Given the description of an element on the screen output the (x, y) to click on. 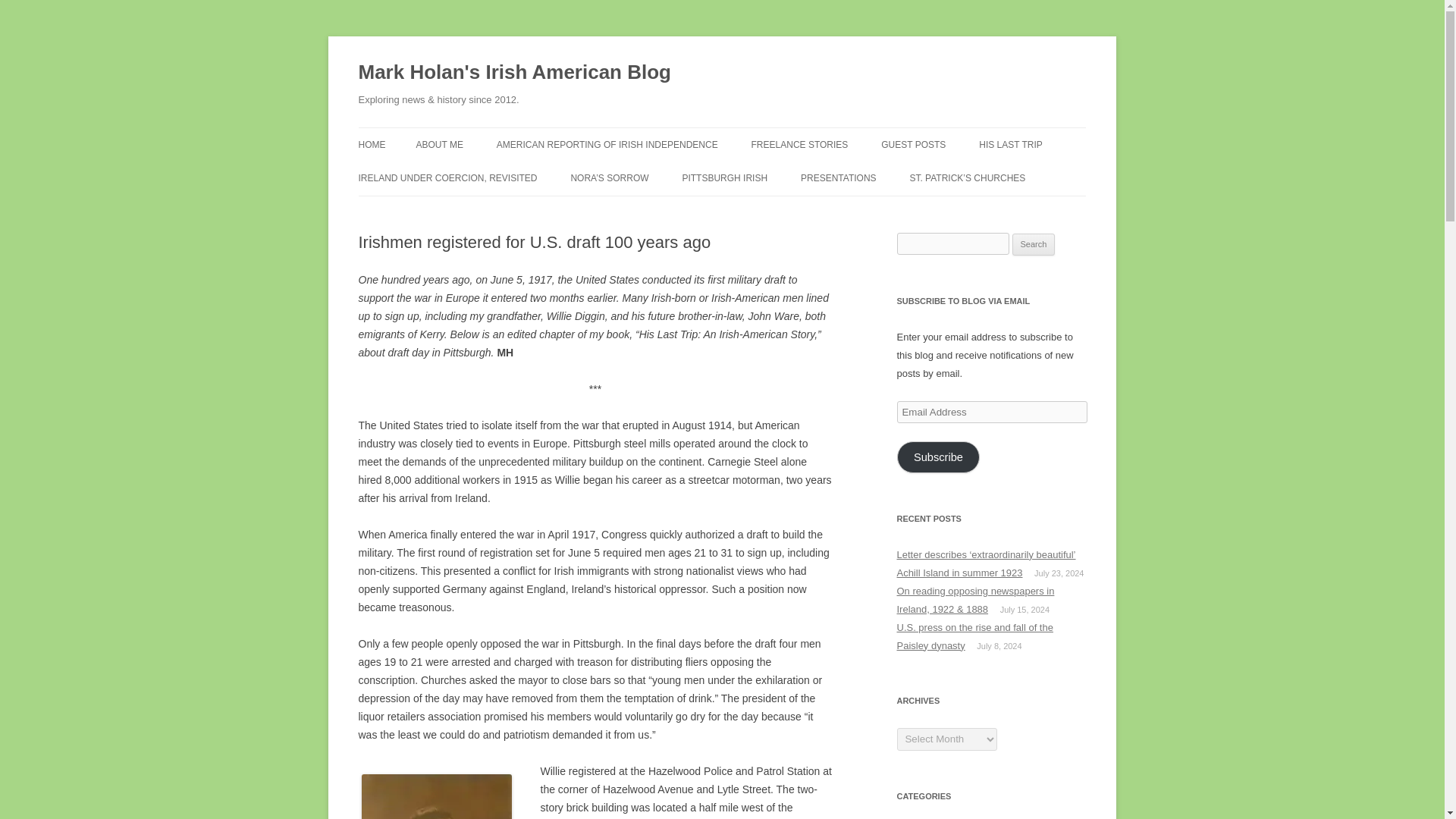
GUEST POSTS (912, 144)
IRELAND UNDER COERCION, REVISITED (447, 177)
FREELANCE STORIES (799, 144)
PRESENTATIONS (838, 177)
ABOUT ME (438, 144)
PITTSBURGH IRISH (724, 177)
Search (1033, 244)
Mark Holan's Irish American Blog (513, 72)
AMERICAN REPORTING OF IRISH INDEPENDENCE (606, 144)
